Given the description of an element on the screen output the (x, y) to click on. 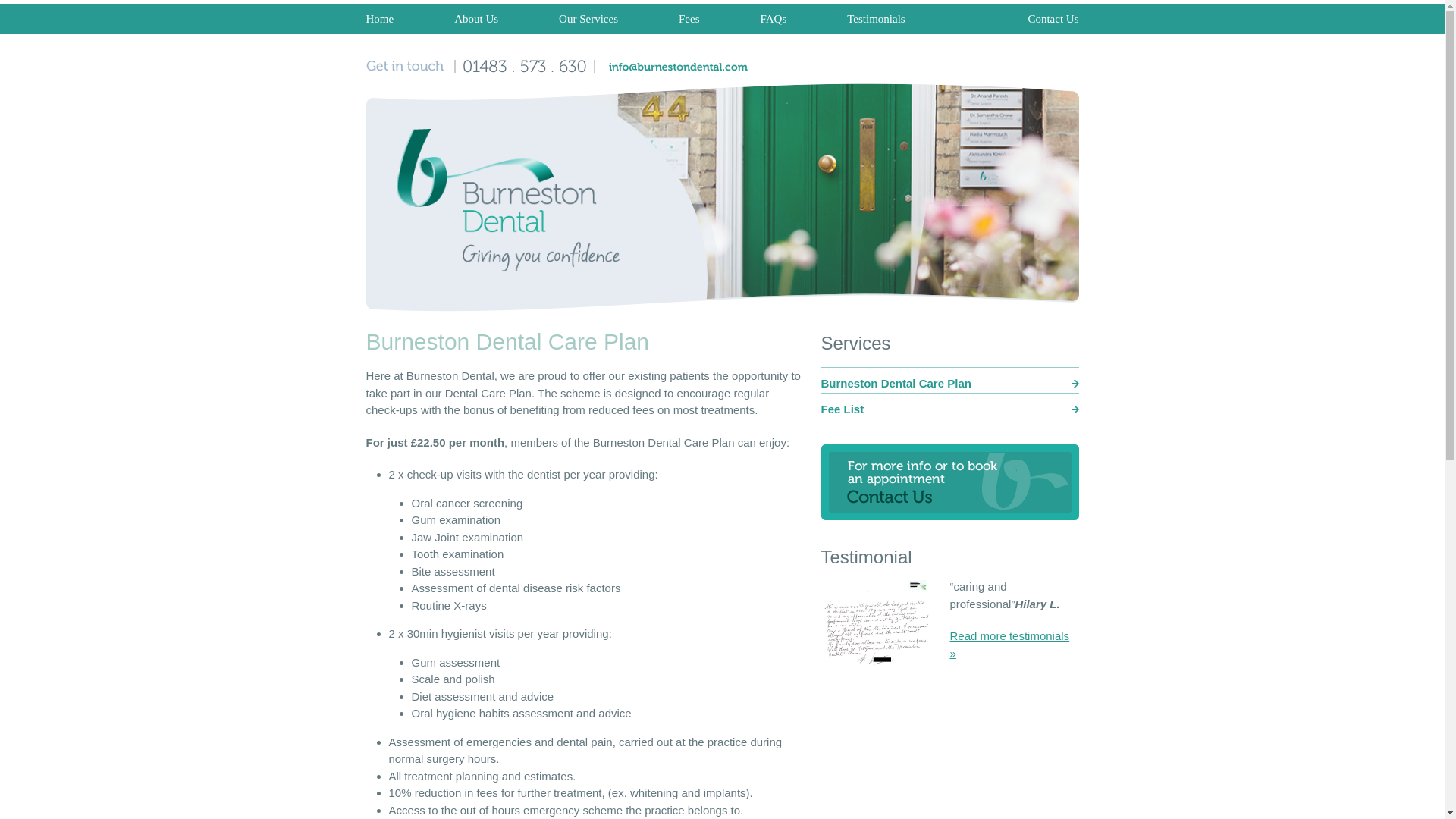
Testimonials (1010, 644)
Contact Us (1037, 19)
FAQs (772, 19)
About Us (475, 19)
Home (394, 19)
Our Services (587, 19)
Burneston Dental Care Plan (949, 384)
Fee List (949, 409)
Fees (688, 19)
Testimonials (875, 19)
